Given the description of an element on the screen output the (x, y) to click on. 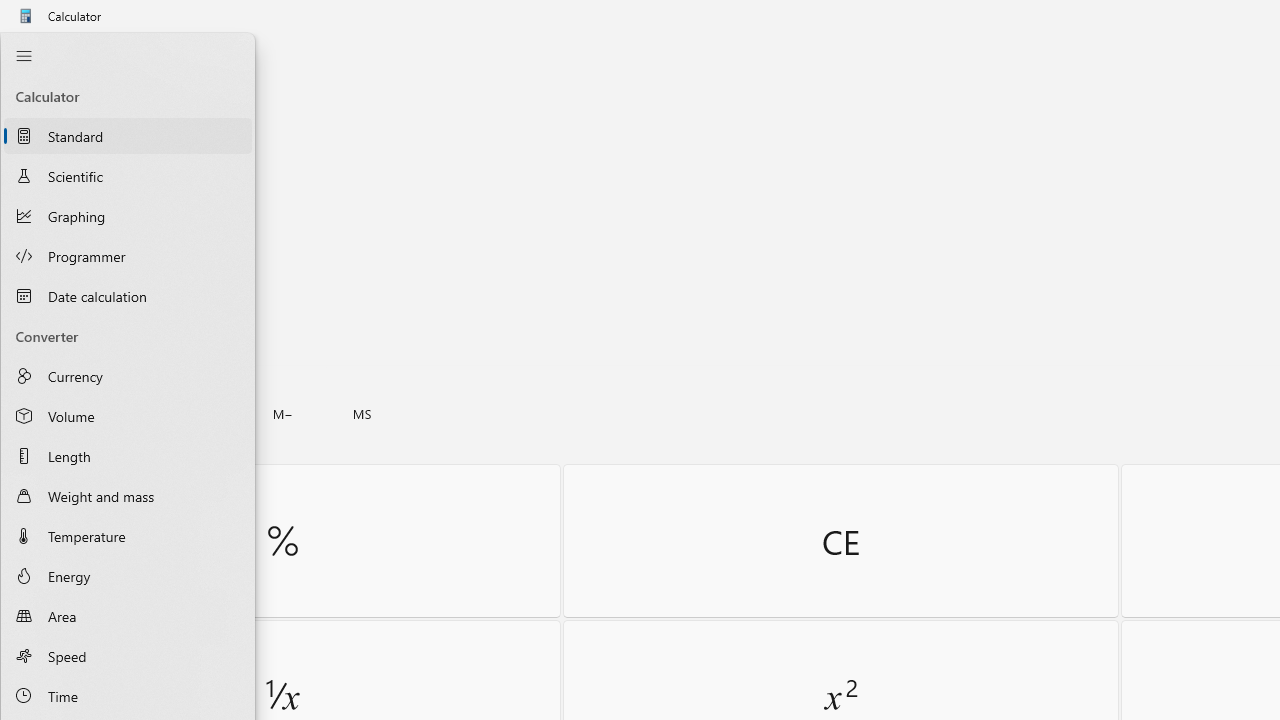
Currency Converter (127, 375)
Graphing Calculator (127, 216)
Weight and mass Converter (127, 496)
Keep on top (155, 56)
Date calculation Calculator (127, 295)
Programmer Calculator (127, 256)
Clear entry (840, 540)
Clear all memory (42, 414)
Memory recall (123, 414)
Memory add (202, 414)
Scientific Calculator (127, 175)
Length Converter (127, 455)
Time Converter (127, 696)
Memory subtract (283, 414)
Percent (281, 540)
